Given the description of an element on the screen output the (x, y) to click on. 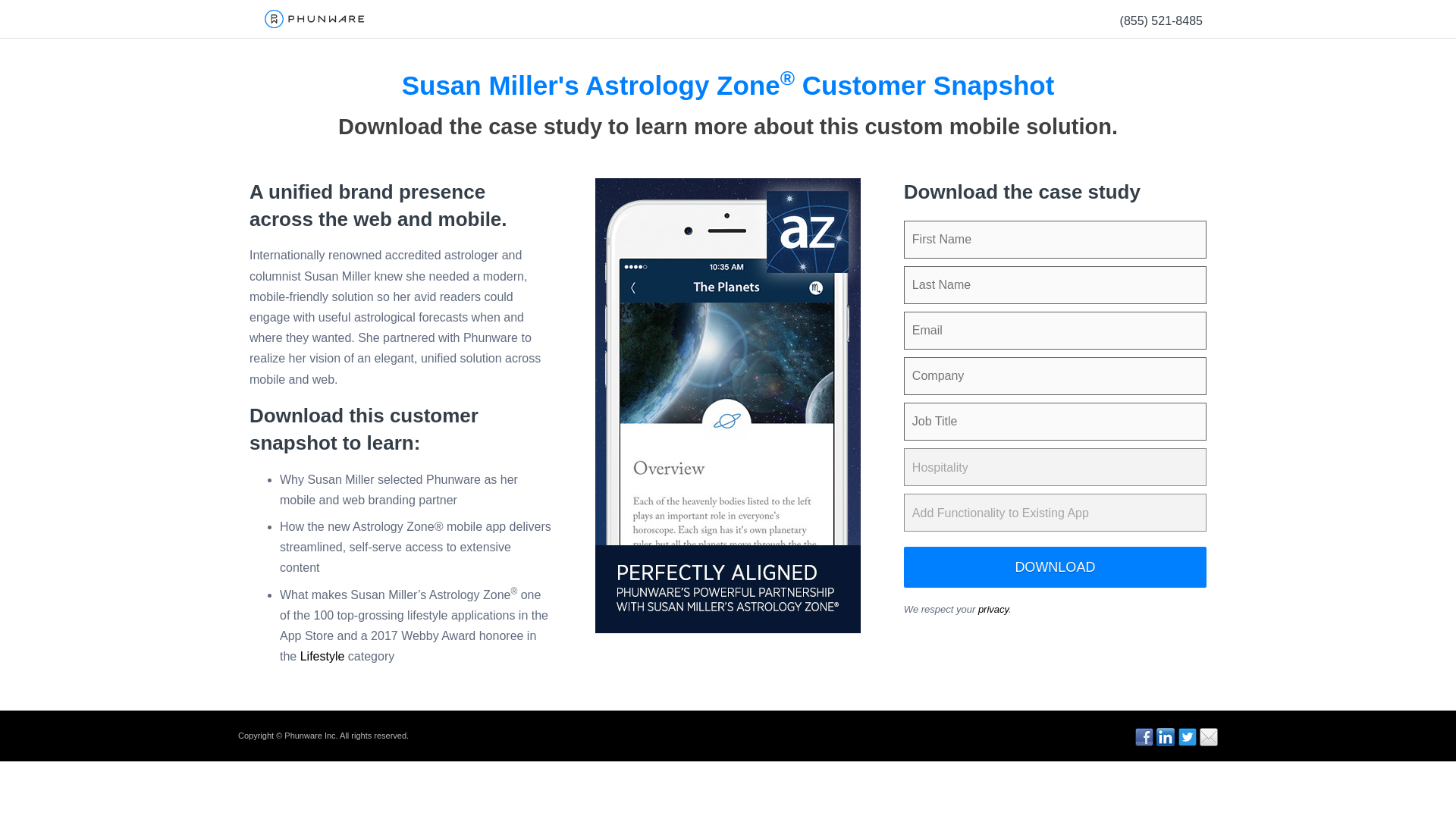
Everything you need to succeed on mobile. (314, 18)
Phunware (314, 27)
Call via Hangouts (1160, 20)
DOWNLOAD (1055, 567)
privacy (993, 609)
Lifestyle (322, 656)
DOWNLOAD (1055, 567)
